Given the description of an element on the screen output the (x, y) to click on. 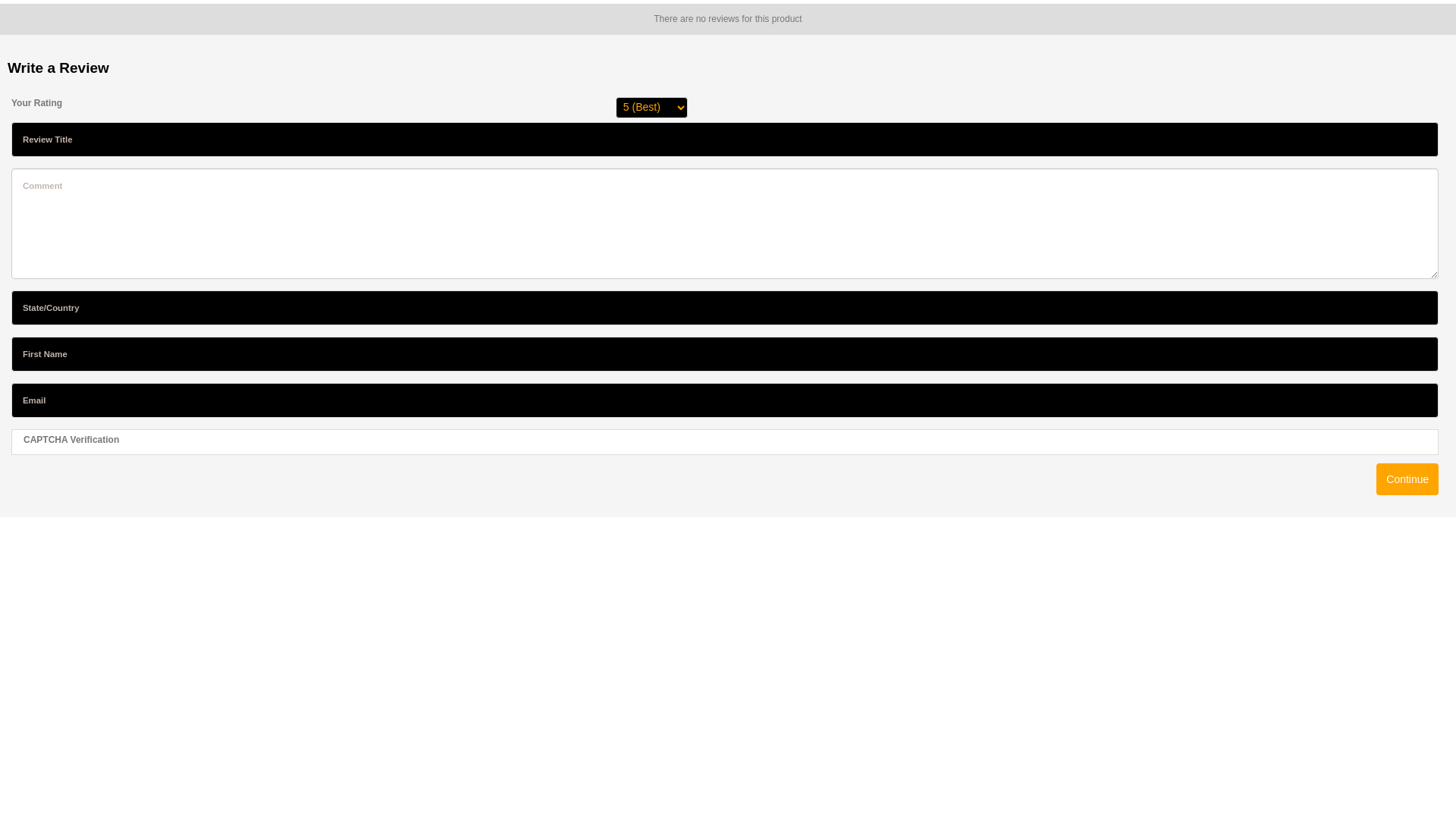
 Continue Element type: text (1407, 479)
